Given the description of an element on the screen output the (x, y) to click on. 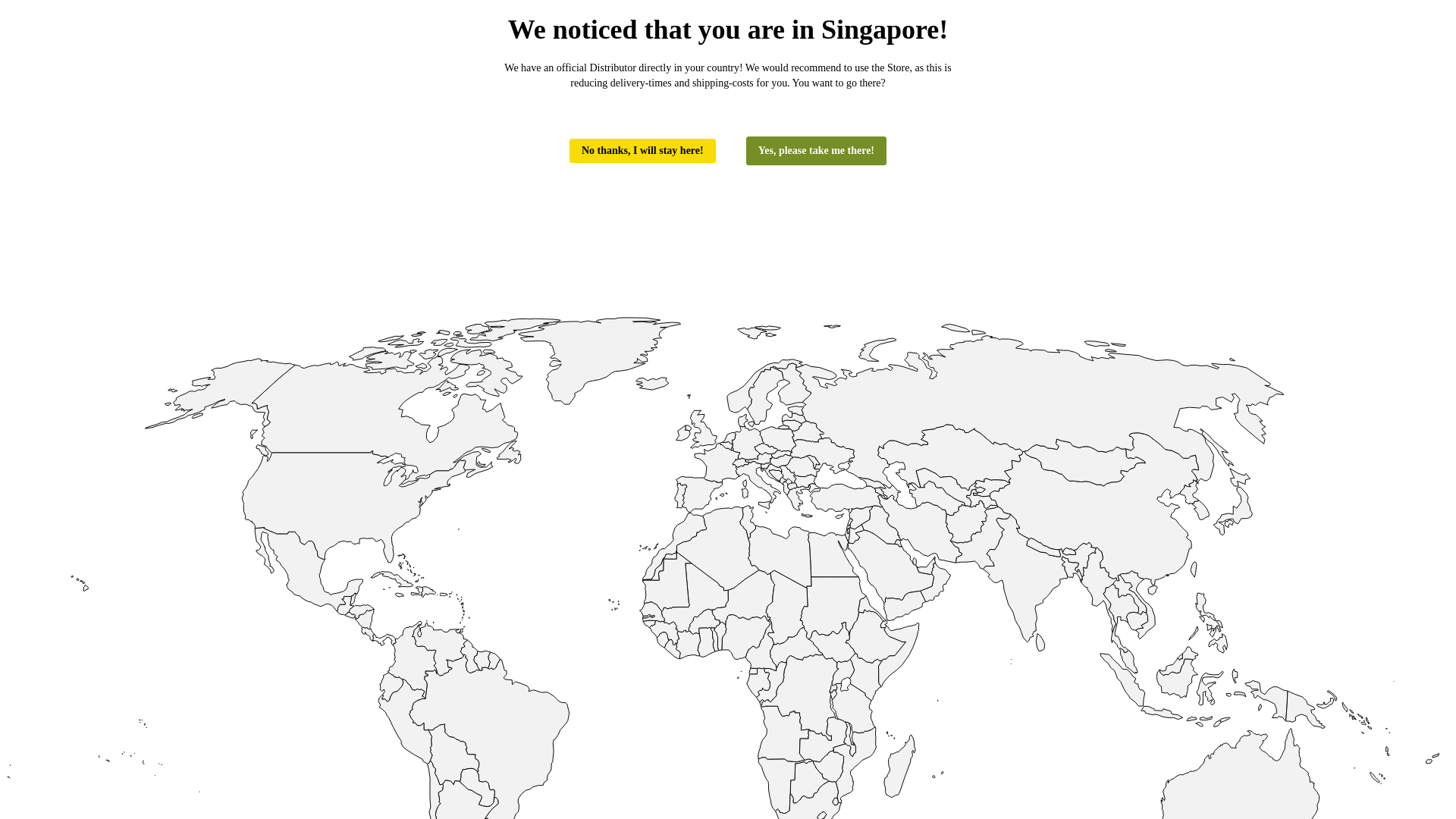
Close (900, 350)
1 (864, 356)
Touratech (219, 45)
